Given the description of an element on the screen output the (x, y) to click on. 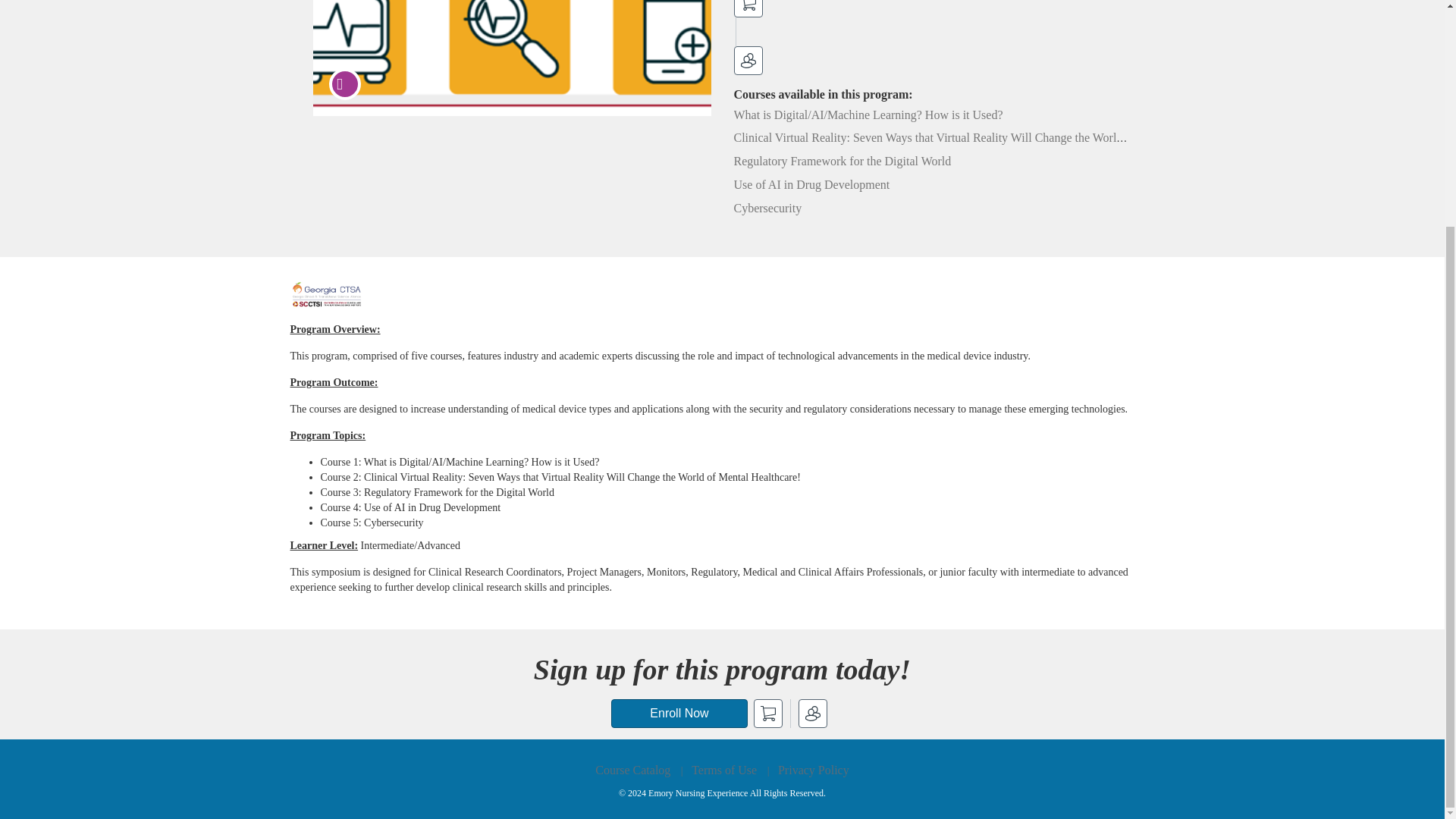
Program (345, 83)
Use of AI in Drug Development (811, 184)
Privacy Policy (812, 769)
Terms of Use (724, 769)
Bulk Purchase (812, 713)
Course Catalog (632, 769)
Add to Cart (747, 8)
Regulatory Framework for the Digital World (842, 160)
Bulk Purchase (747, 60)
